Given the description of an element on the screen output the (x, y) to click on. 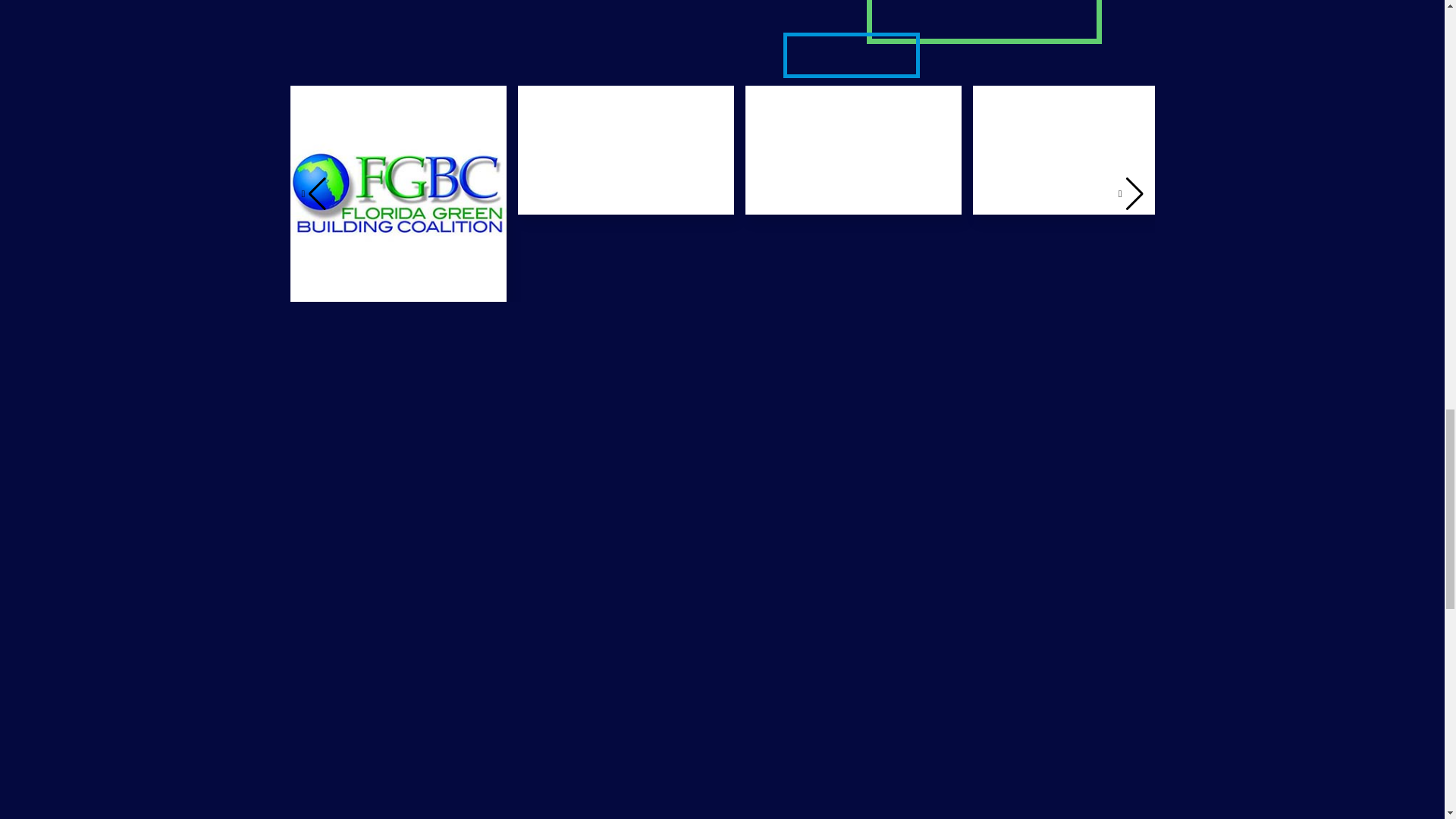
List Title (852, 149)
List Title (624, 149)
List Title (397, 193)
